Given the description of an element on the screen output the (x, y) to click on. 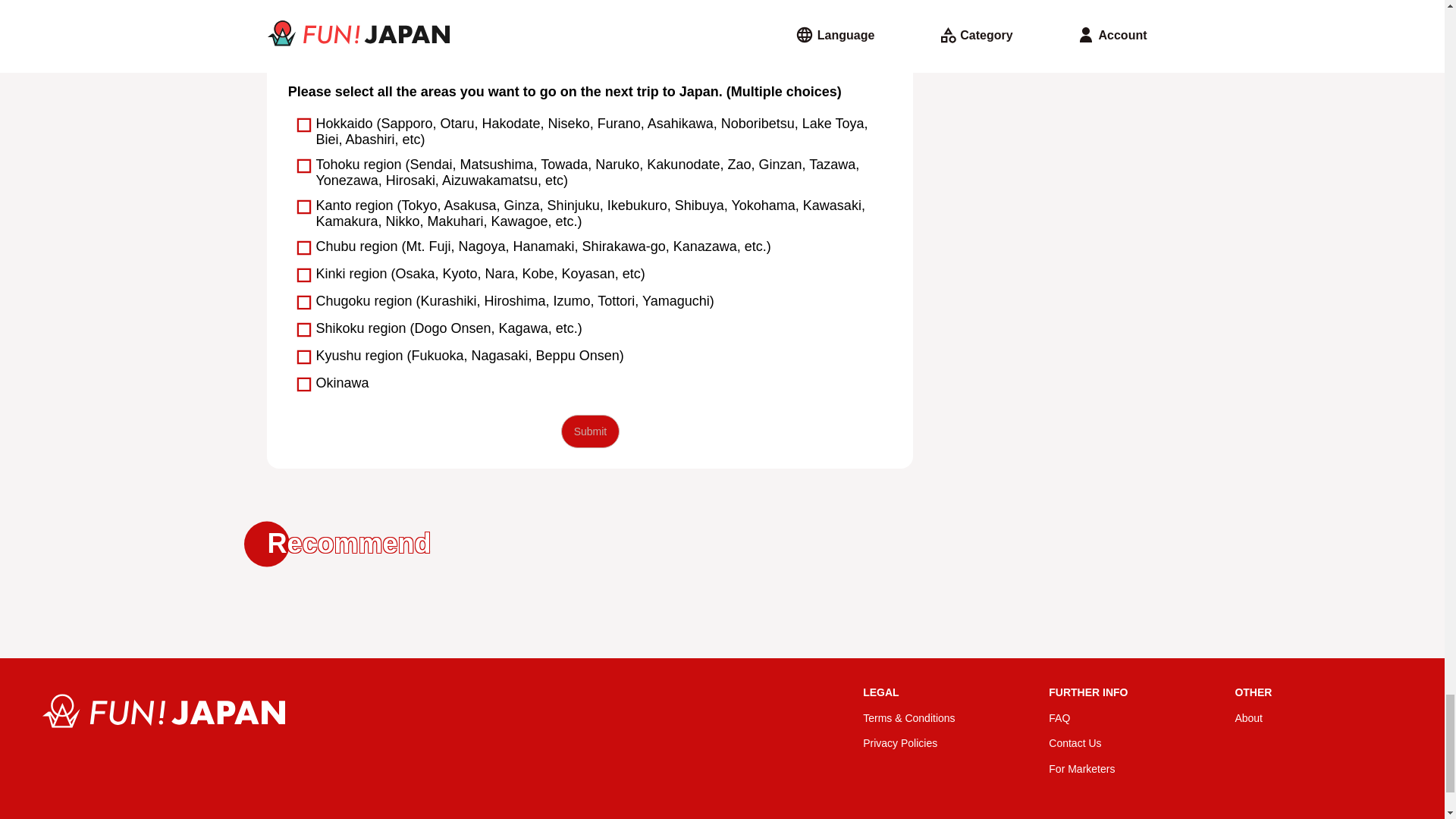
Submit (590, 430)
